Given the description of an element on the screen output the (x, y) to click on. 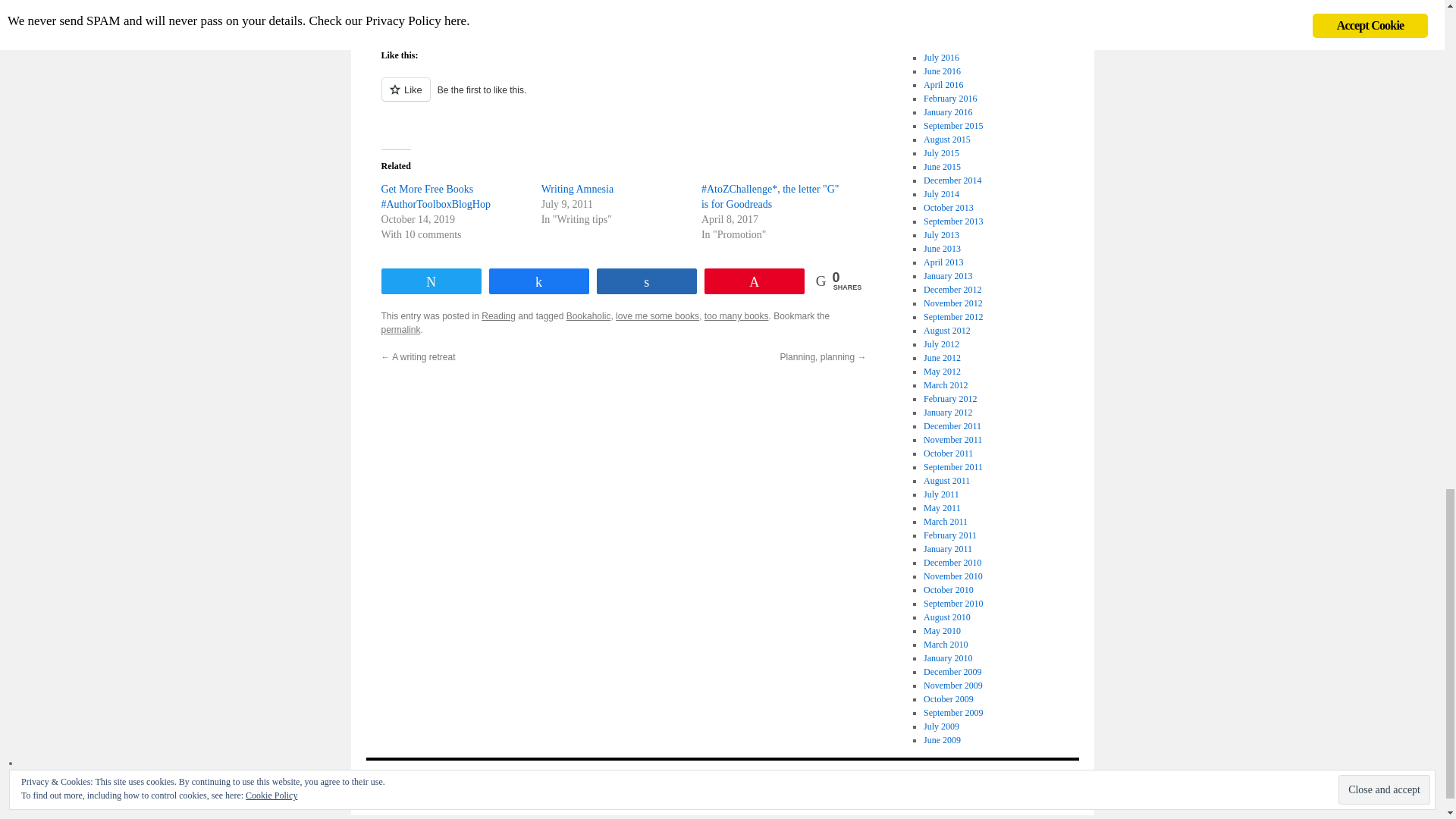
Click to share on Twitter (392, 10)
